Given the description of an element on the screen output the (x, y) to click on. 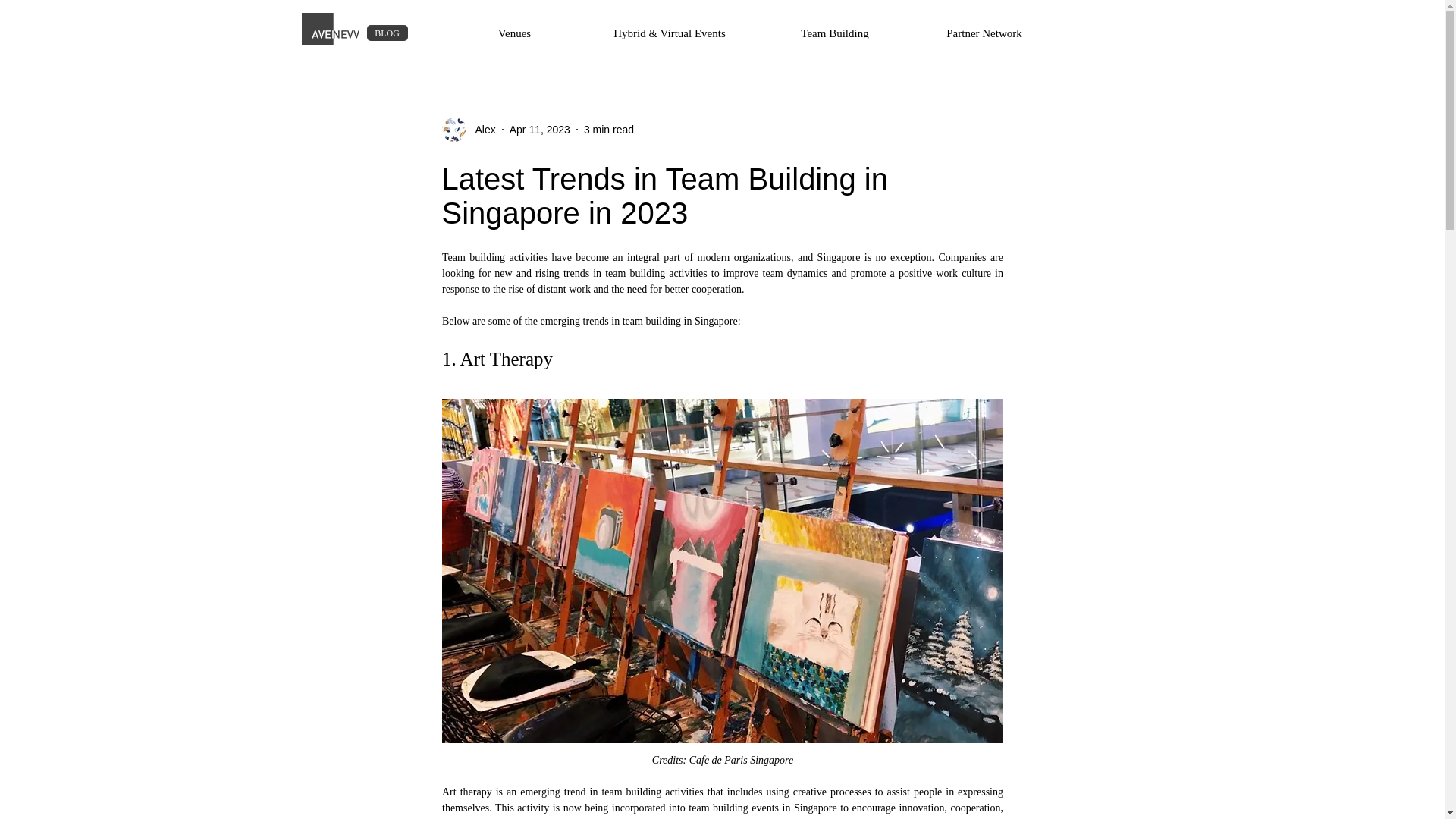
3 min read (608, 128)
Venues (515, 33)
Apr 11, 2023 (539, 128)
Alex (480, 129)
Partner Network (986, 33)
Team Building (836, 33)
